Given the description of an element on the screen output the (x, y) to click on. 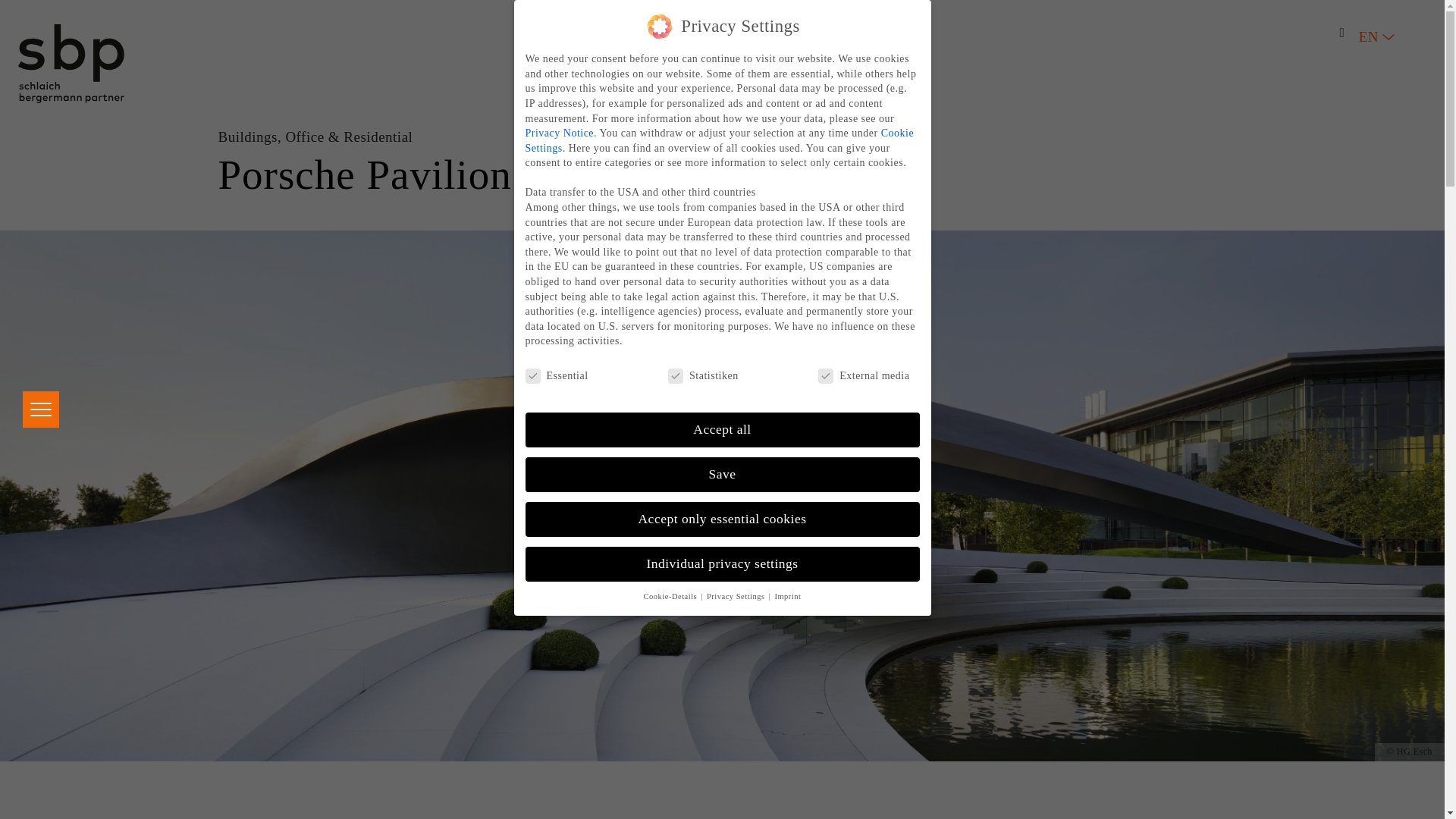
sbp (70, 63)
